Given the description of an element on the screen output the (x, y) to click on. 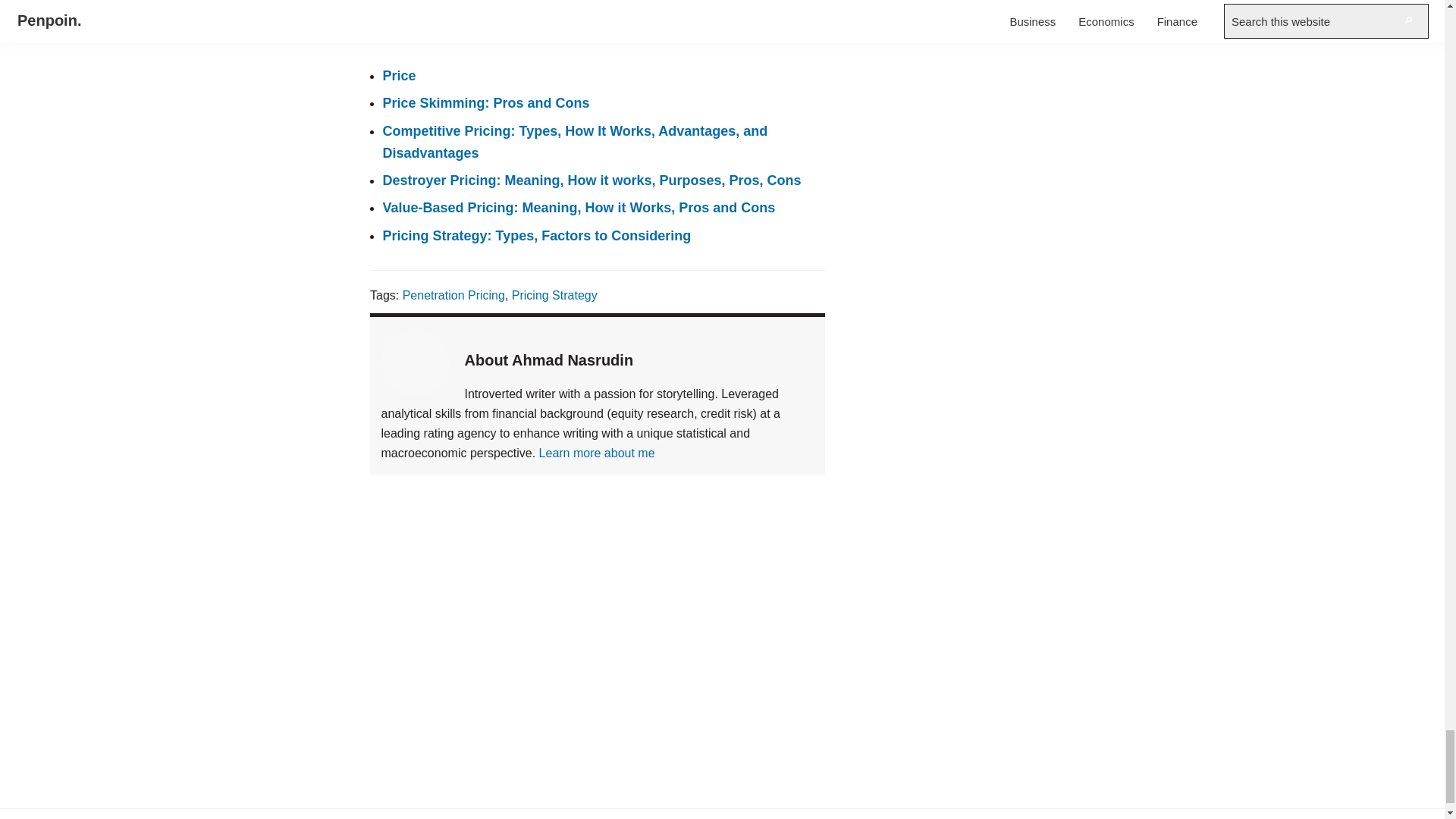
Pricing Strategy (553, 295)
Pricing Strategy: Types, Factors to Considering (535, 235)
Penetration Pricing (452, 295)
Price (397, 75)
Price (397, 75)
Price Skimming: Pros and Cons (485, 102)
Price Skimming: Pros and Cons (485, 102)
Value-Based Pricing: Meaning, How it Works, Pros and Cons (577, 207)
